Given the description of an element on the screen output the (x, y) to click on. 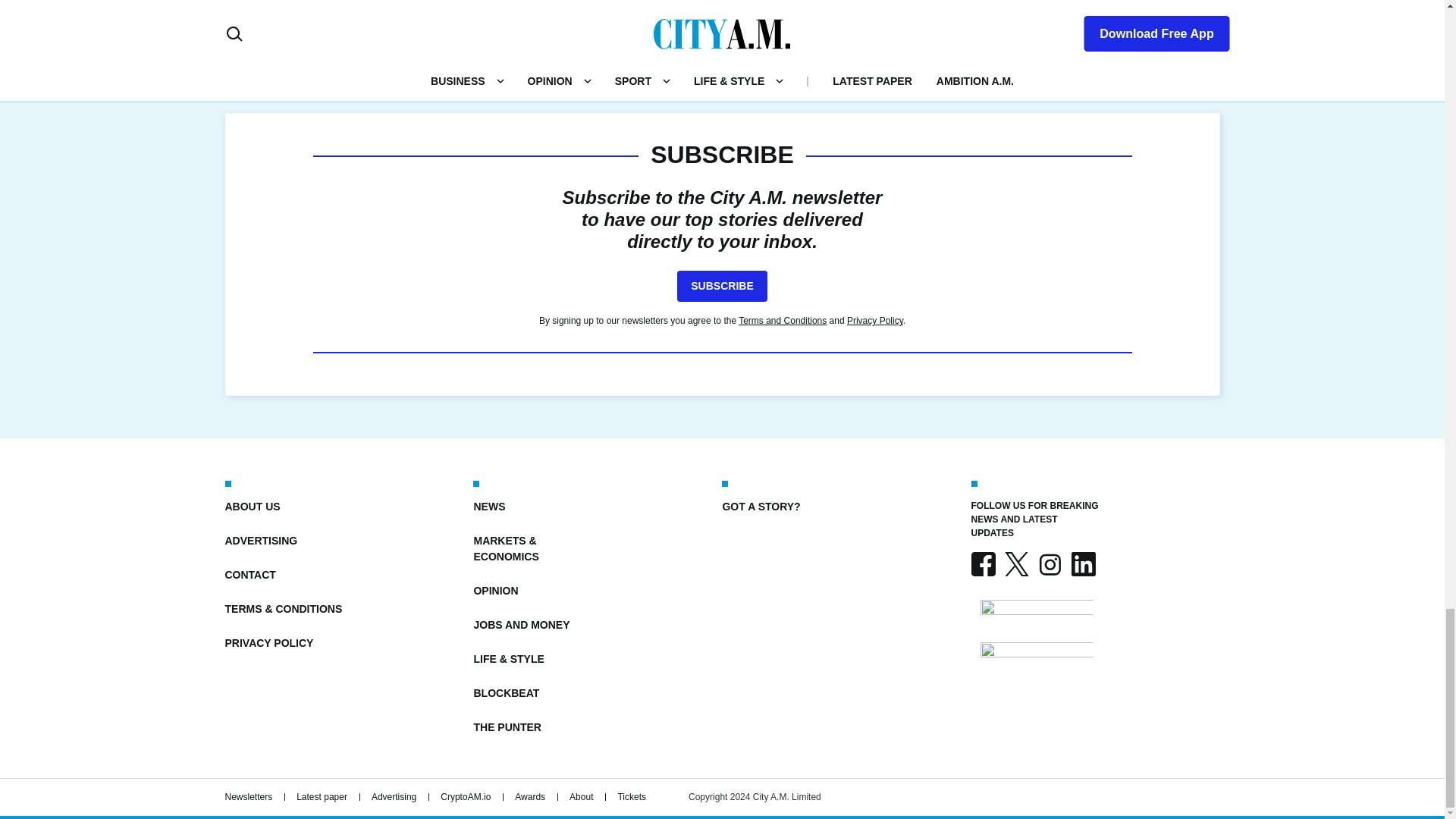
LINKEDIN (1082, 564)
INSTAGRAM (1048, 564)
X (1015, 564)
FACEBOOK (982, 564)
